Given the description of an element on the screen output the (x, y) to click on. 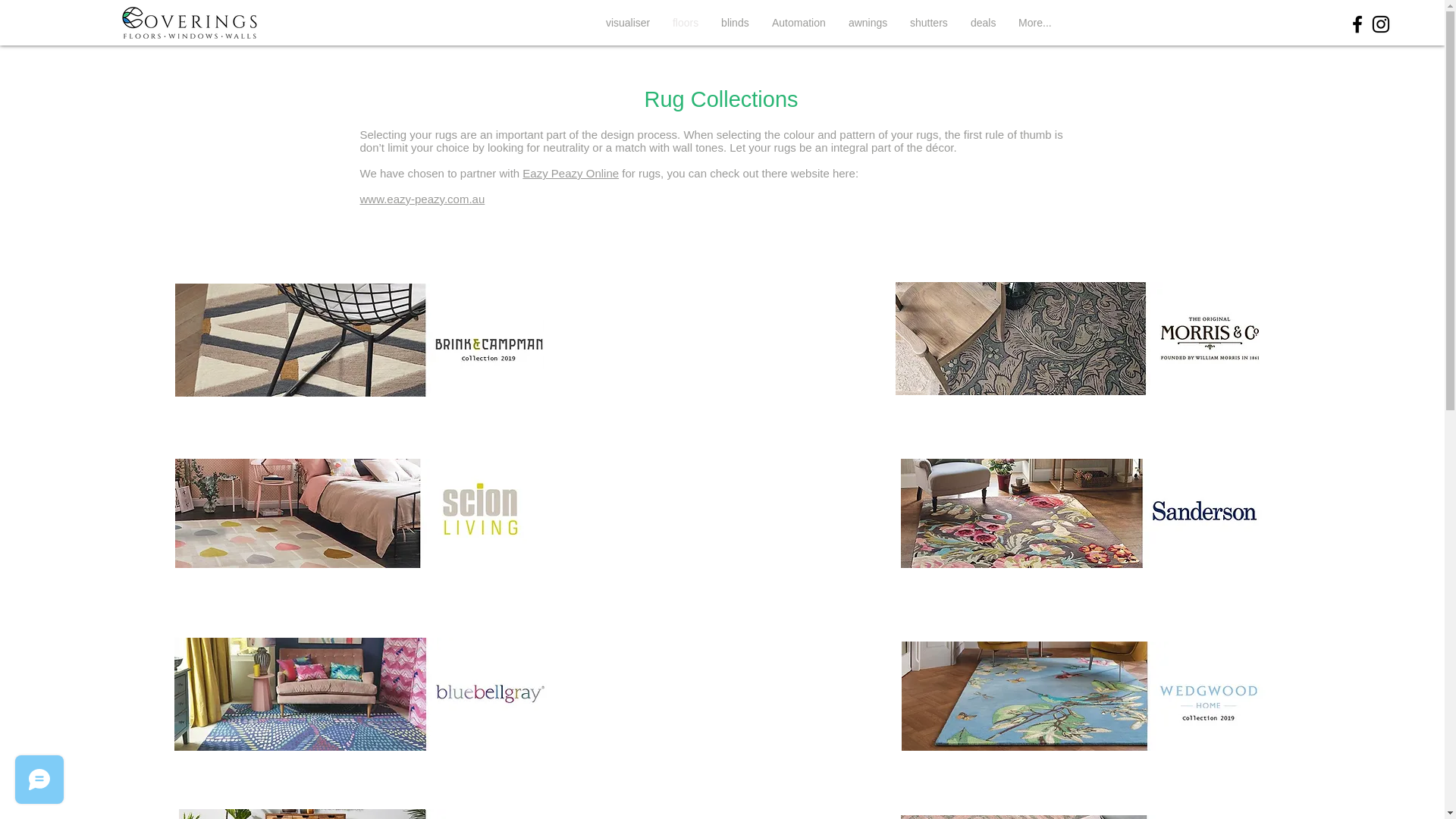
Scion rug collection Element type: hover (358, 512)
Sanderson rug collection Element type: hover (1082, 512)
blinds Element type: text (734, 22)
shutters Element type: text (928, 22)
Covering Company Logo Element type: hover (189, 22)
Brink-and-campman Rug Collection Element type: hover (359, 339)
Morris-and-Co Rug Collection Element type: hover (1082, 338)
wedgwood rug collection Element type: hover (1084, 695)
www.eazy-peazy.com.au Element type: text (421, 198)
Eazy Peazy Online Element type: text (570, 172)
visualiser Element type: text (627, 22)
floors Element type: text (685, 22)
awnings Element type: text (867, 22)
deals Element type: text (983, 22)
Blue Bell Gray Rug Collection Element type: hover (360, 693)
Automation Element type: text (798, 22)
